Given the description of an element on the screen output the (x, y) to click on. 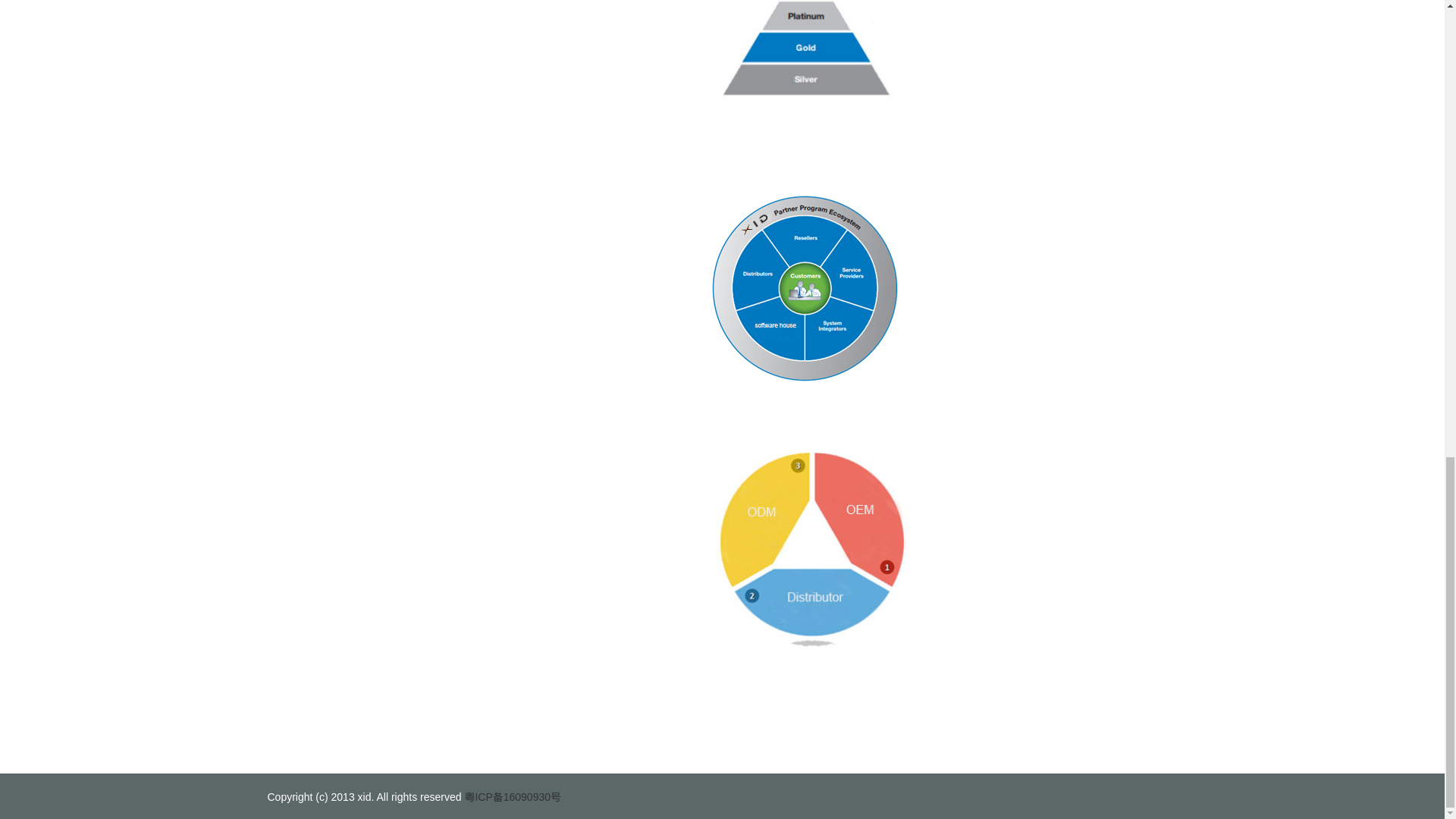
1476091537587172.png (810, 288)
1476091553757565.png (809, 53)
1476091544297927.png (809, 546)
